Given the description of an element on the screen output the (x, y) to click on. 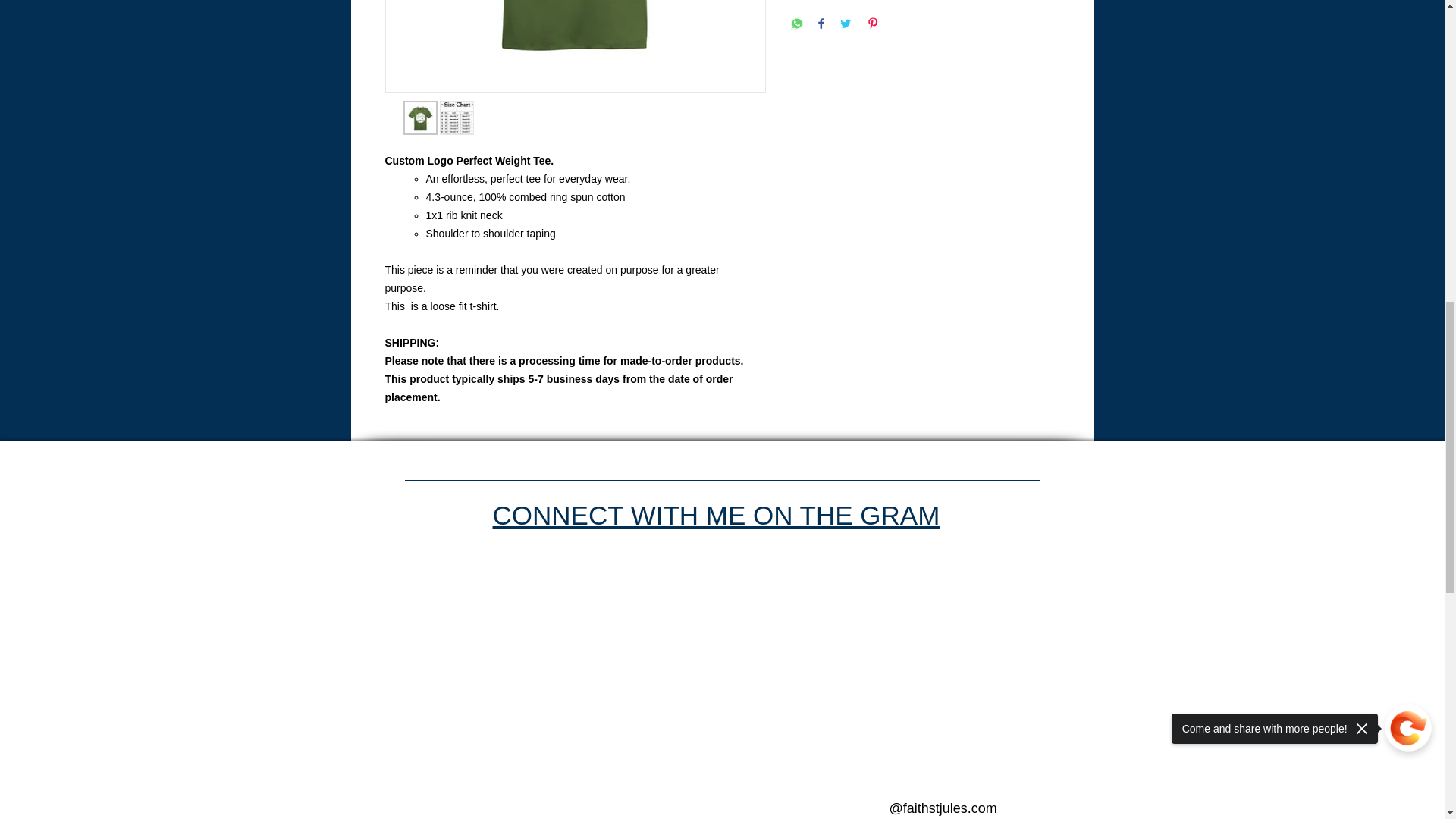
CONNECT WITH ME ON THE GRAM (716, 515)
